Given the description of an element on the screen output the (x, y) to click on. 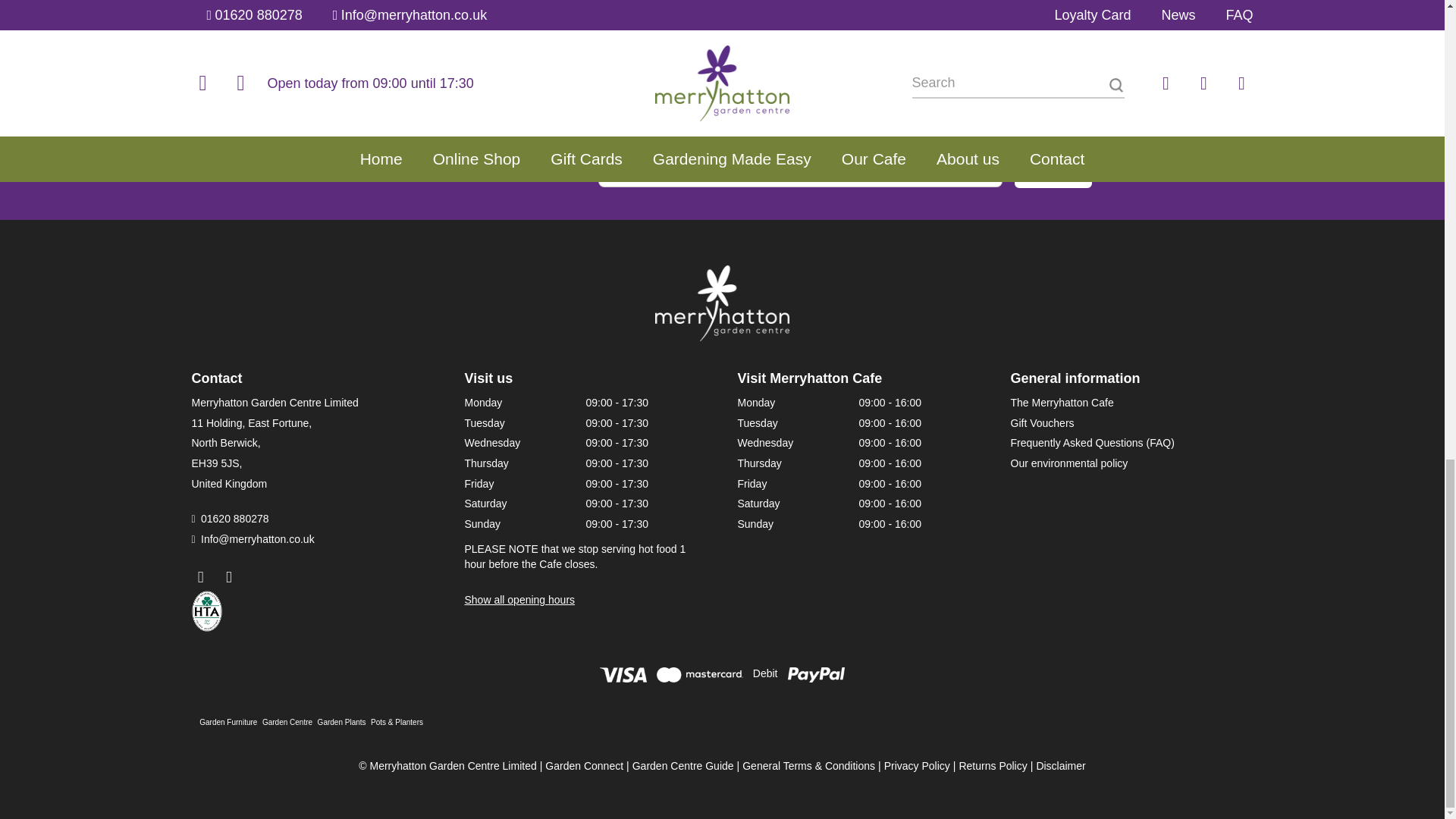
Sign up (1053, 173)
